Given the description of an element on the screen output the (x, y) to click on. 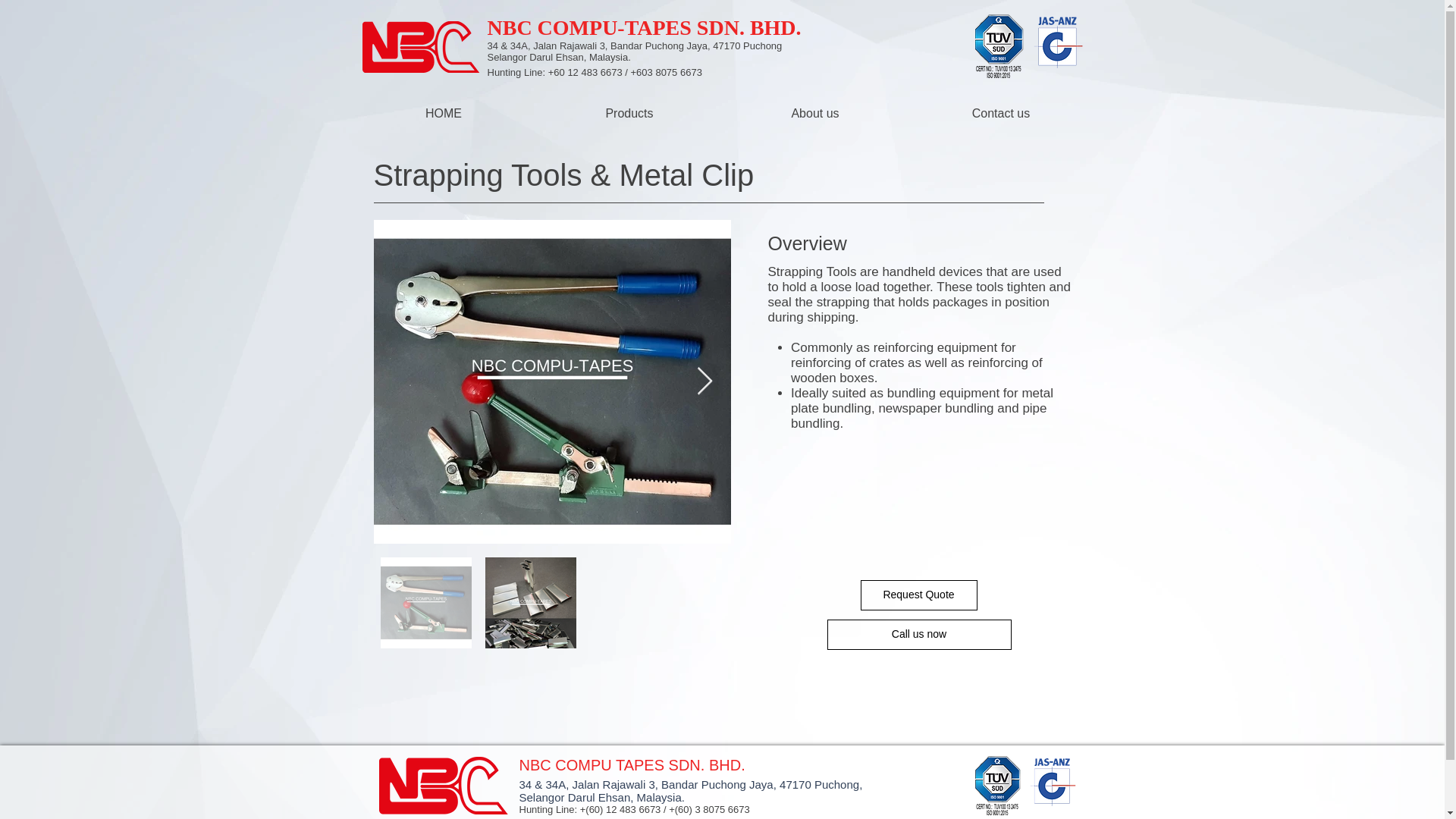
HOME (442, 113)
Request Quote (918, 594)
Contact us (1001, 113)
Call us now (918, 634)
About us (814, 113)
